Given the description of an element on the screen output the (x, y) to click on. 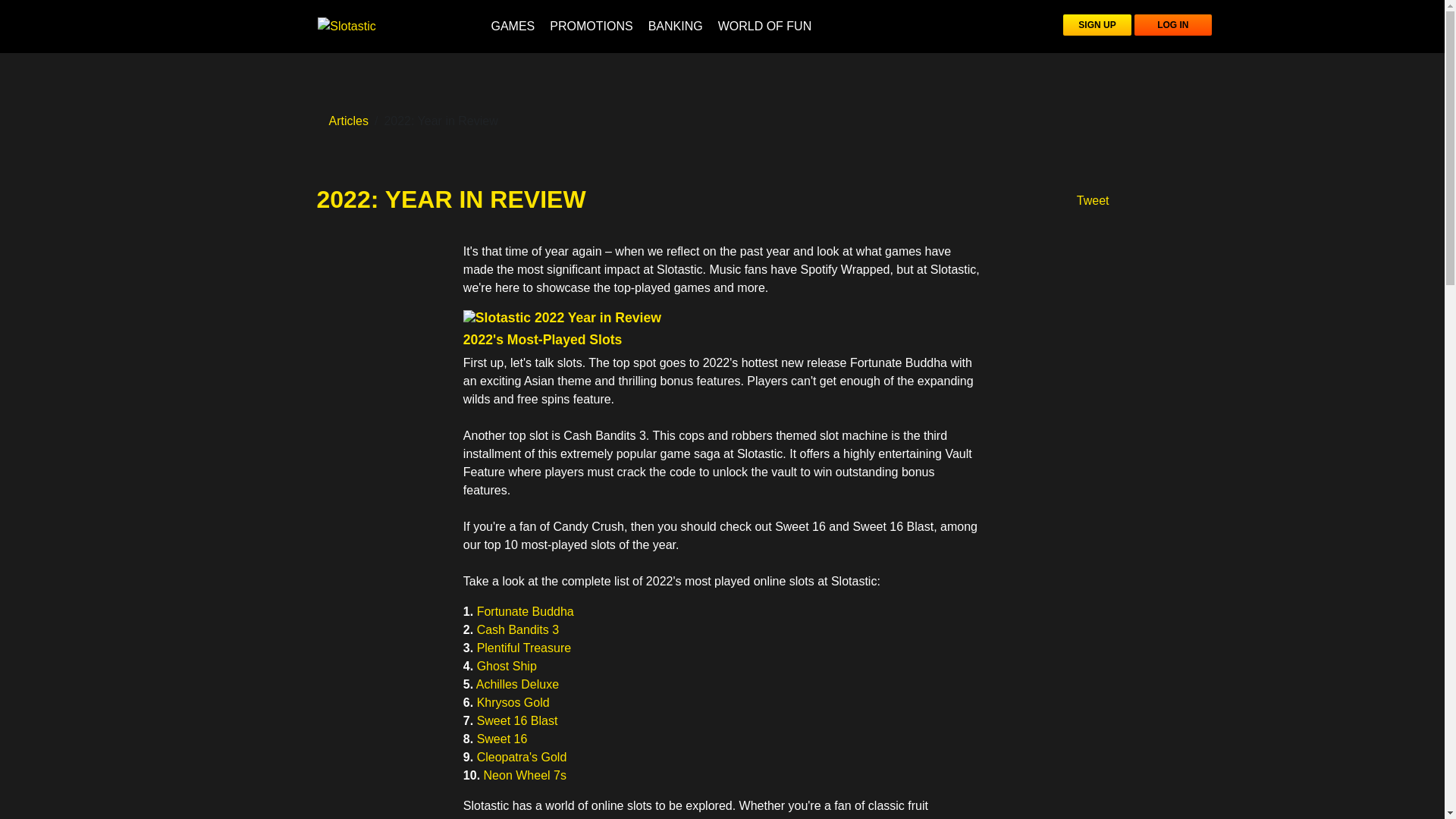
Slotastic 2022 Year in Review (562, 317)
Articles (348, 120)
Sweet 16 (502, 738)
Fortunate Buddha (525, 611)
Neon Wheel 7s (524, 775)
BANKING (675, 25)
Tweet (1093, 200)
SIGN UP (1096, 25)
PROMOTIONS (590, 25)
Ghost Ship Slot (507, 666)
